Given the description of an element on the screen output the (x, y) to click on. 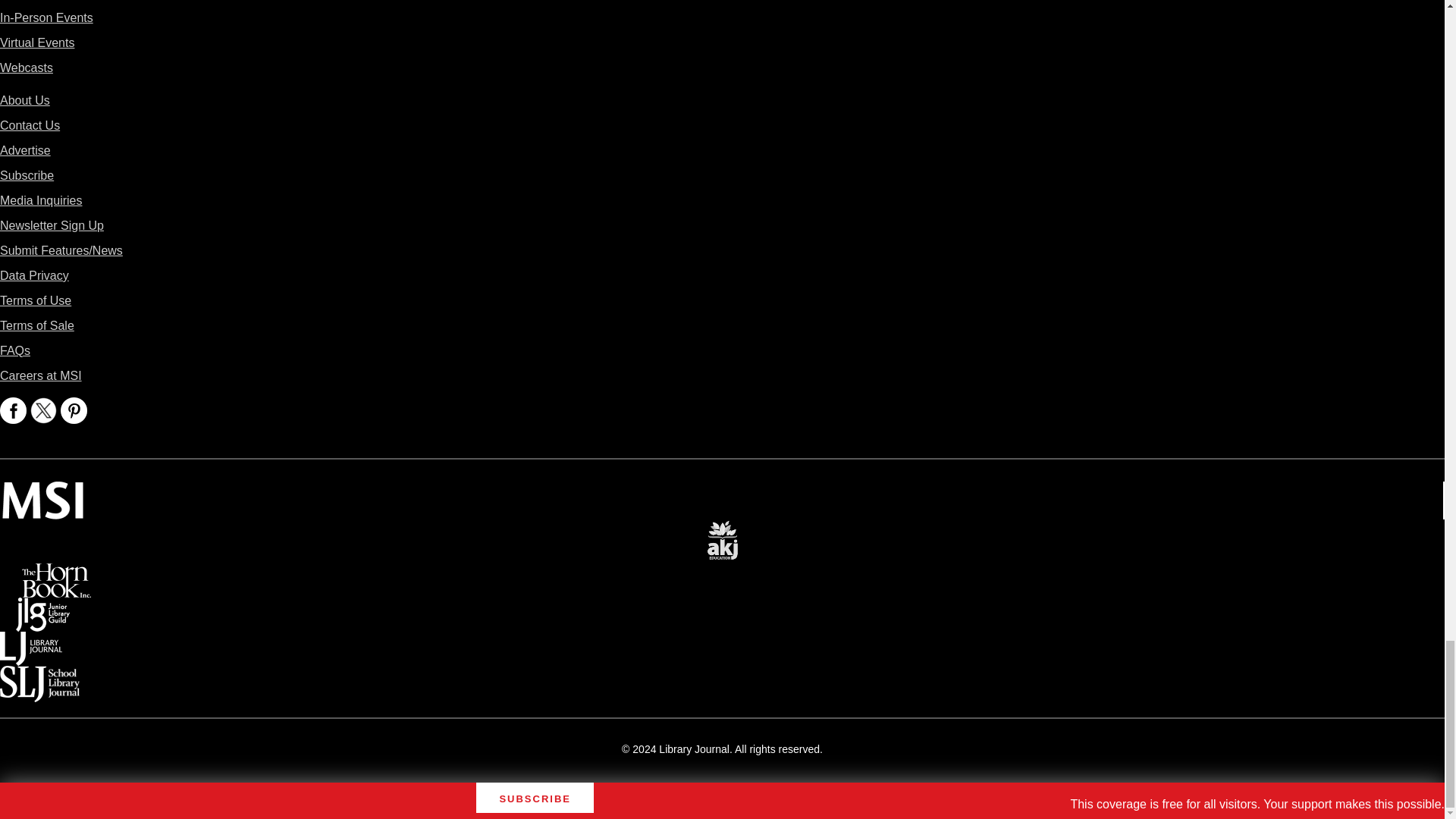
AKJ (722, 529)
The Horn Book (56, 573)
Media Source Incorporated (42, 491)
Junior Library Guild (42, 607)
School Library Journal (40, 676)
